Given the description of an element on the screen output the (x, y) to click on. 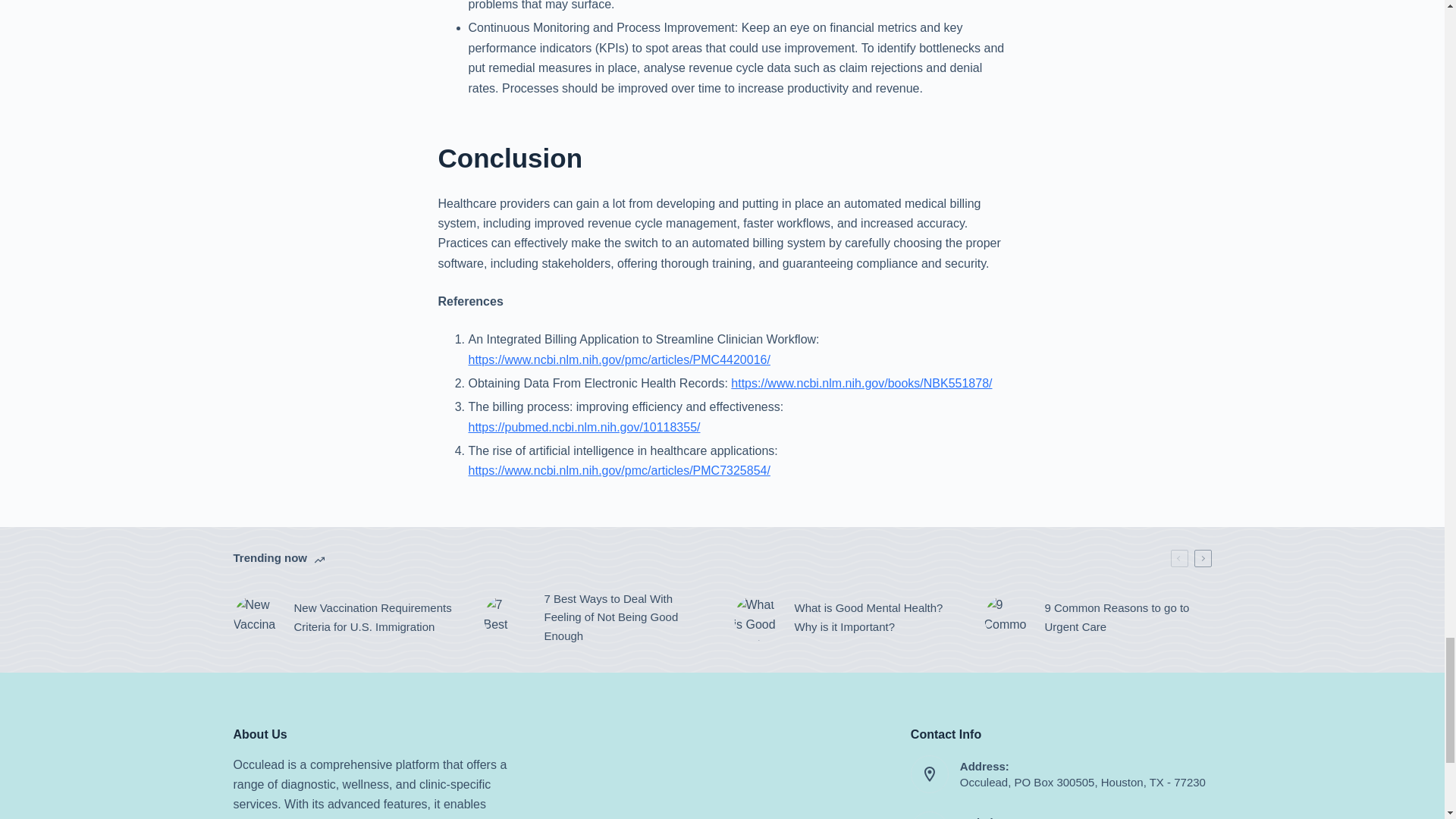
What is Good Mental Health? Why is it Important? (846, 617)
New Vaccination Requirements Criteria for U.S. Immigration (346, 617)
7 Best Ways to Deal With Feeling of Not Being Good Enough (597, 617)
9 Common Reasons to go to Urgent Care (1097, 617)
